Given the description of an element on the screen output the (x, y) to click on. 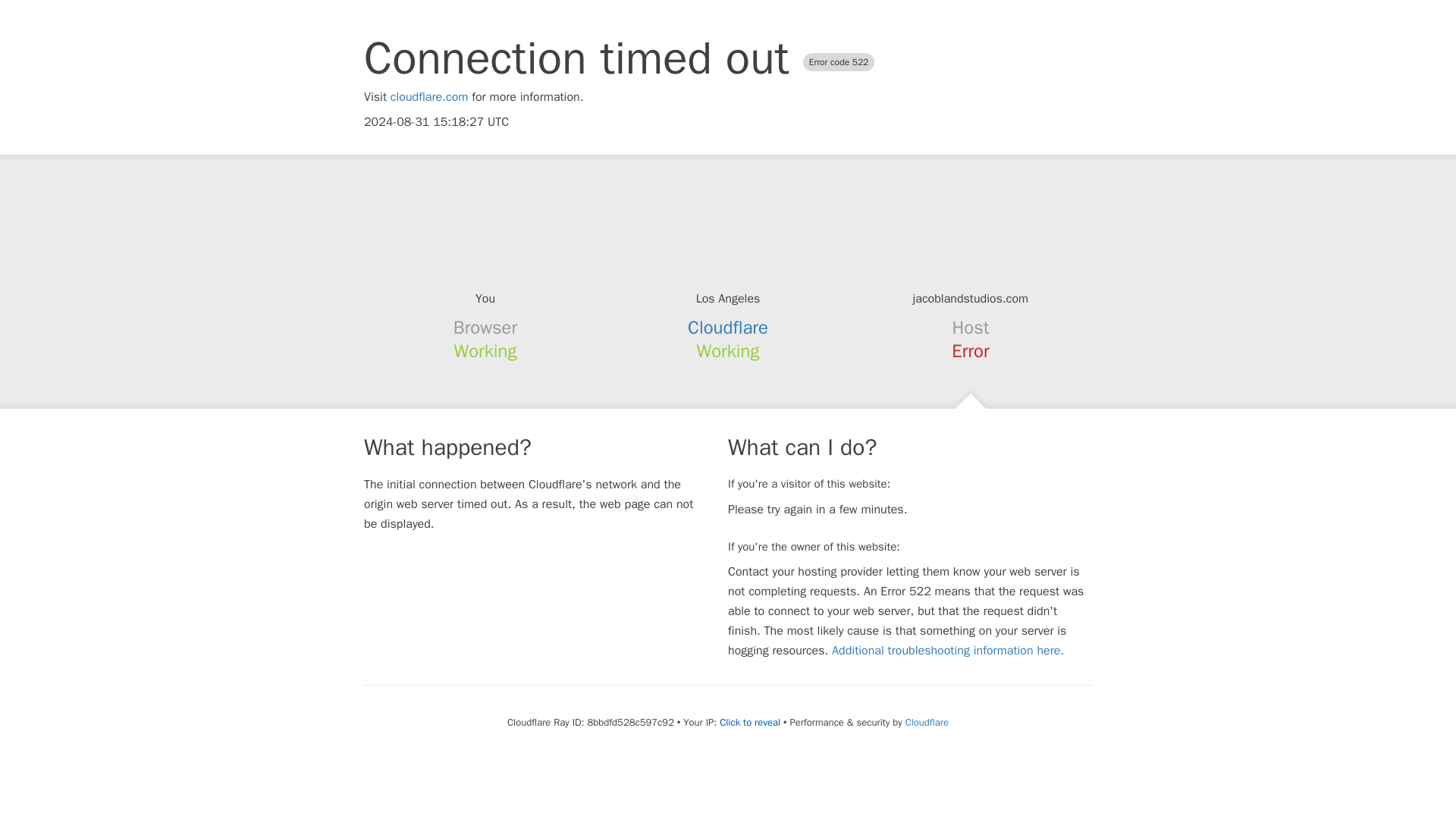
Click to reveal (749, 722)
Cloudflare (927, 721)
cloudflare.com (429, 96)
Cloudflare (727, 327)
Additional troubleshooting information here. (947, 650)
